Given the description of an element on the screen output the (x, y) to click on. 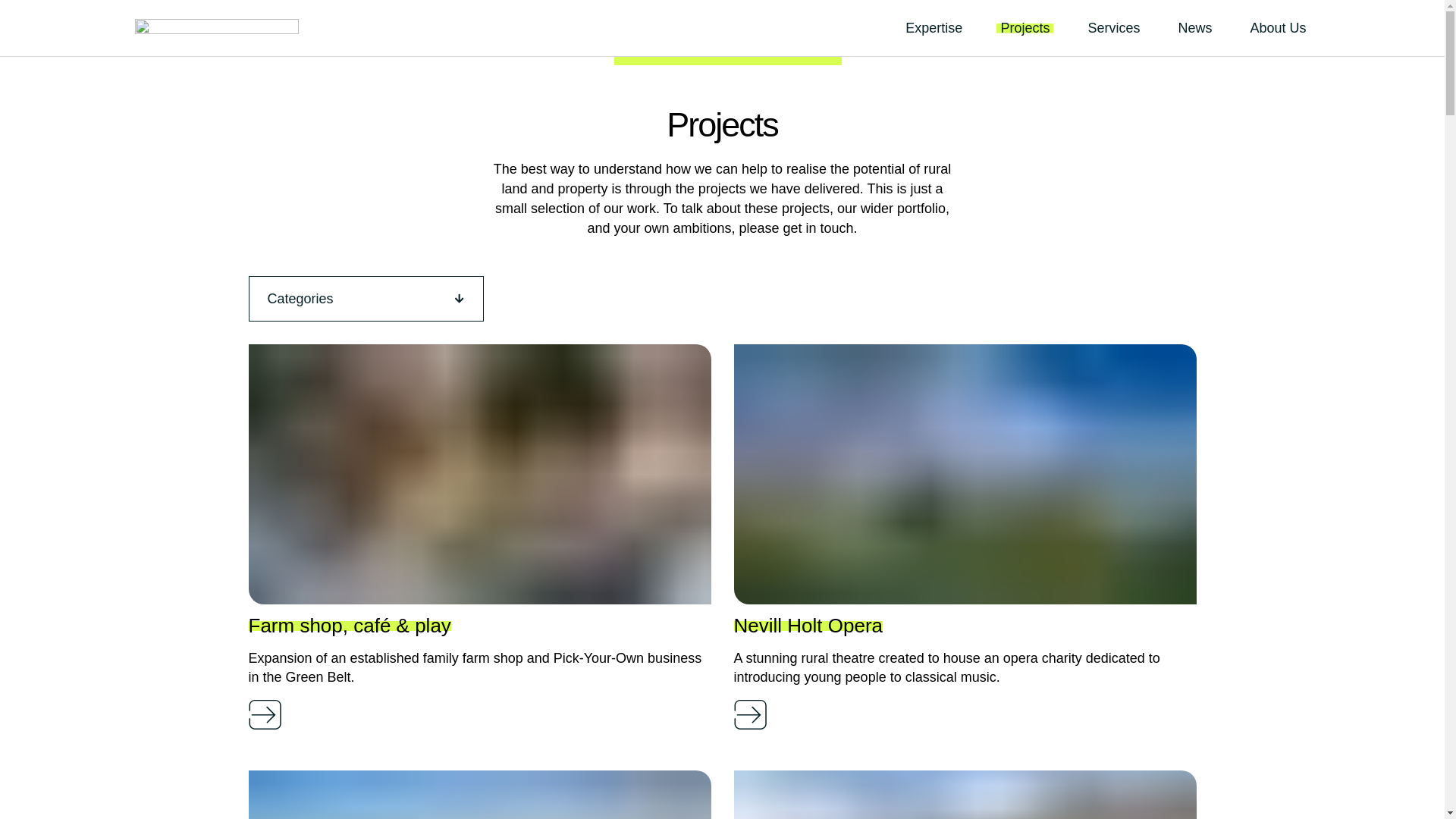
Services (1112, 28)
About Us (1277, 28)
Expertise (933, 28)
Rural Solutions (216, 29)
Categories (364, 298)
Projects (1023, 28)
News (1194, 28)
